Given the description of an element on the screen output the (x, y) to click on. 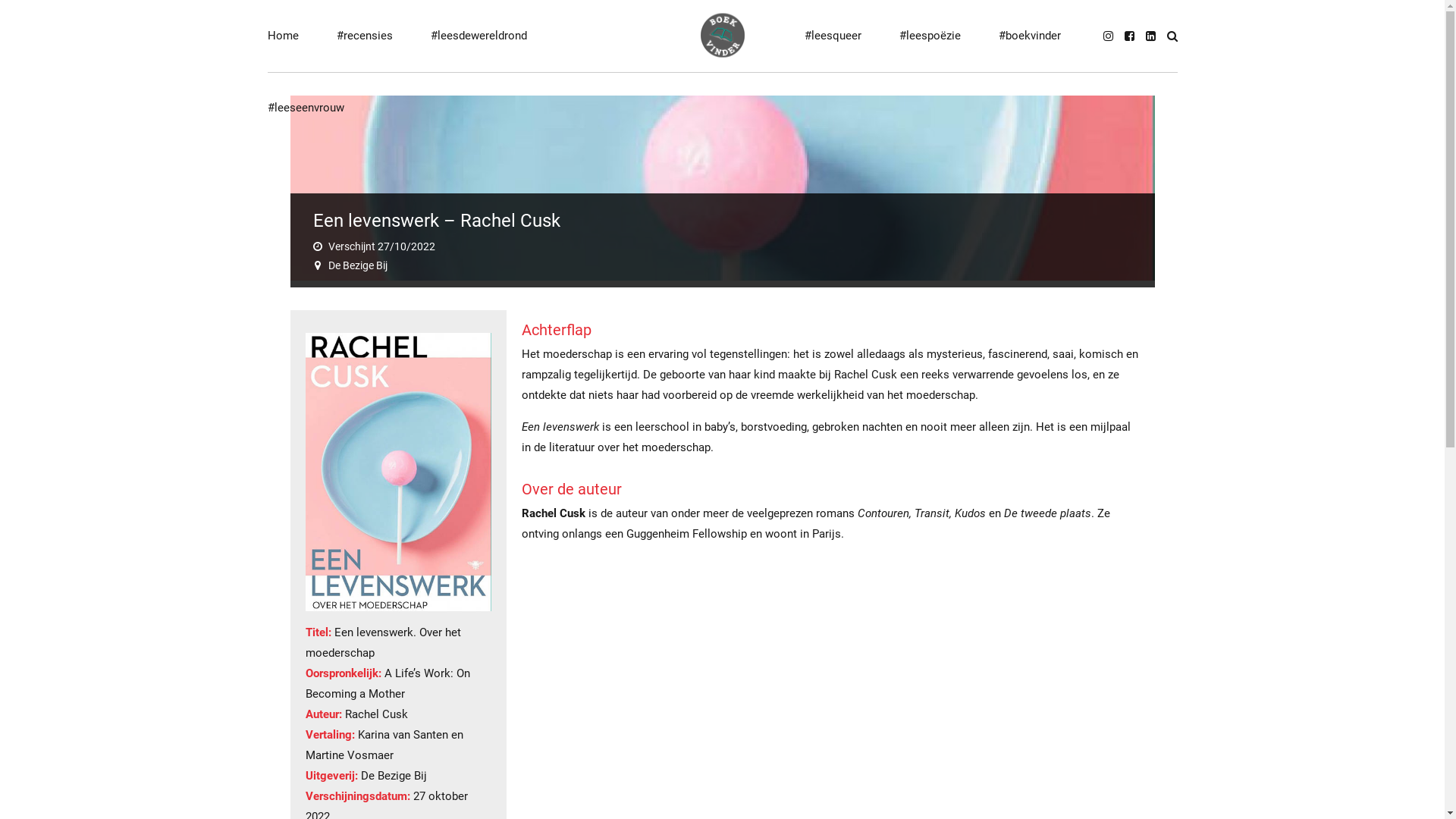
#recensies Element type: text (364, 36)
#boekvinder Element type: text (1028, 36)
Een levenswerk - Rachel Cusk Element type: hover (397, 471)
#leesqueer Element type: text (831, 36)
Zoeken Element type: hover (1171, 35)
Home Element type: text (282, 36)
#leeseenvrouw Element type: text (304, 108)
#leesdewereldrond Element type: text (478, 36)
